Given the description of an element on the screen output the (x, y) to click on. 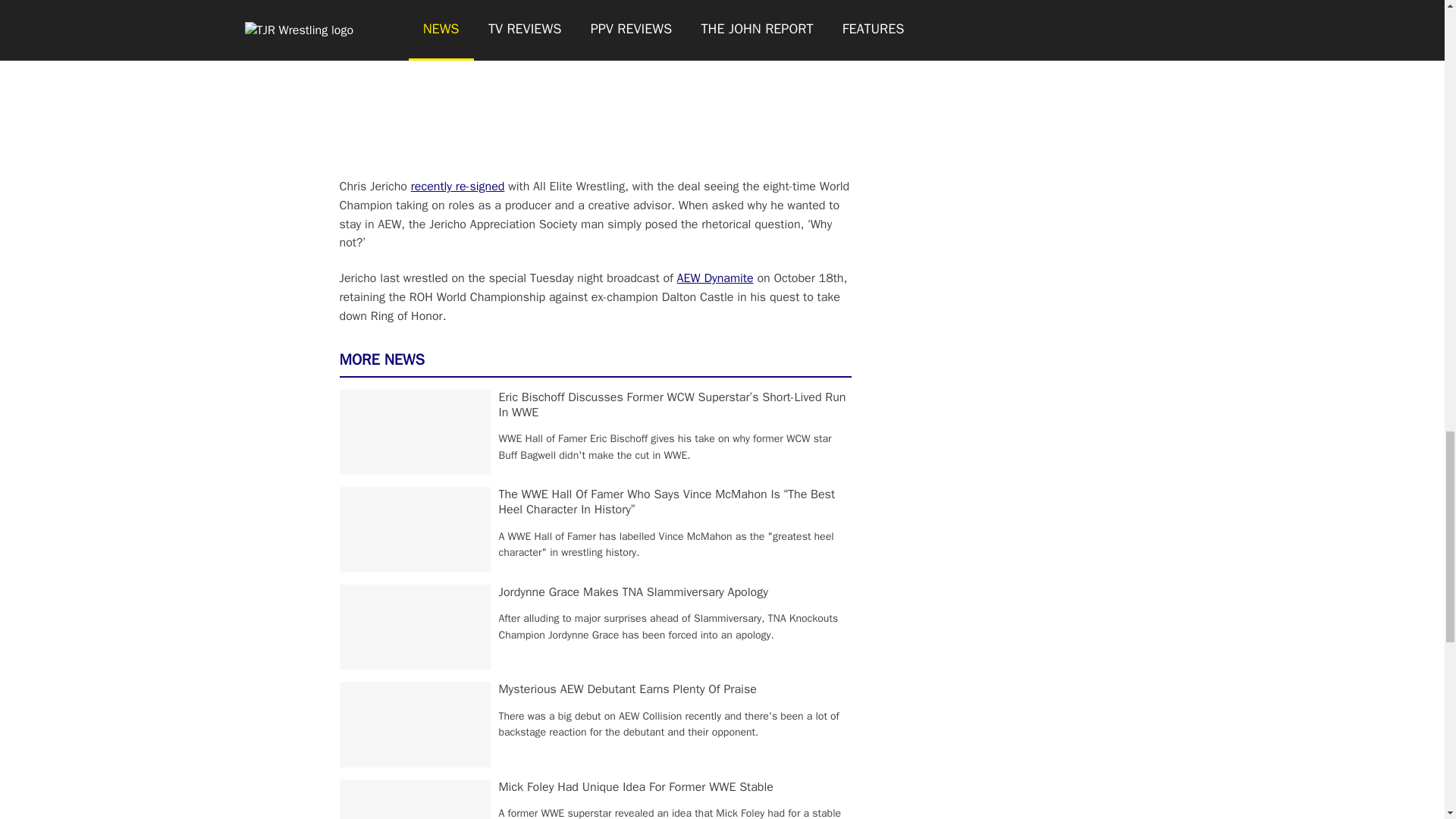
Mysterious AEW Debutant Earns Plenty Of Praise (628, 688)
recently re-signed (457, 186)
Mick Foley Had Unique Idea For Former WWE Stable (636, 786)
AEW Dynamite (715, 278)
Jordynne Grace Makes TNA Slammiversary Apology (633, 591)
